Given the description of an element on the screen output the (x, y) to click on. 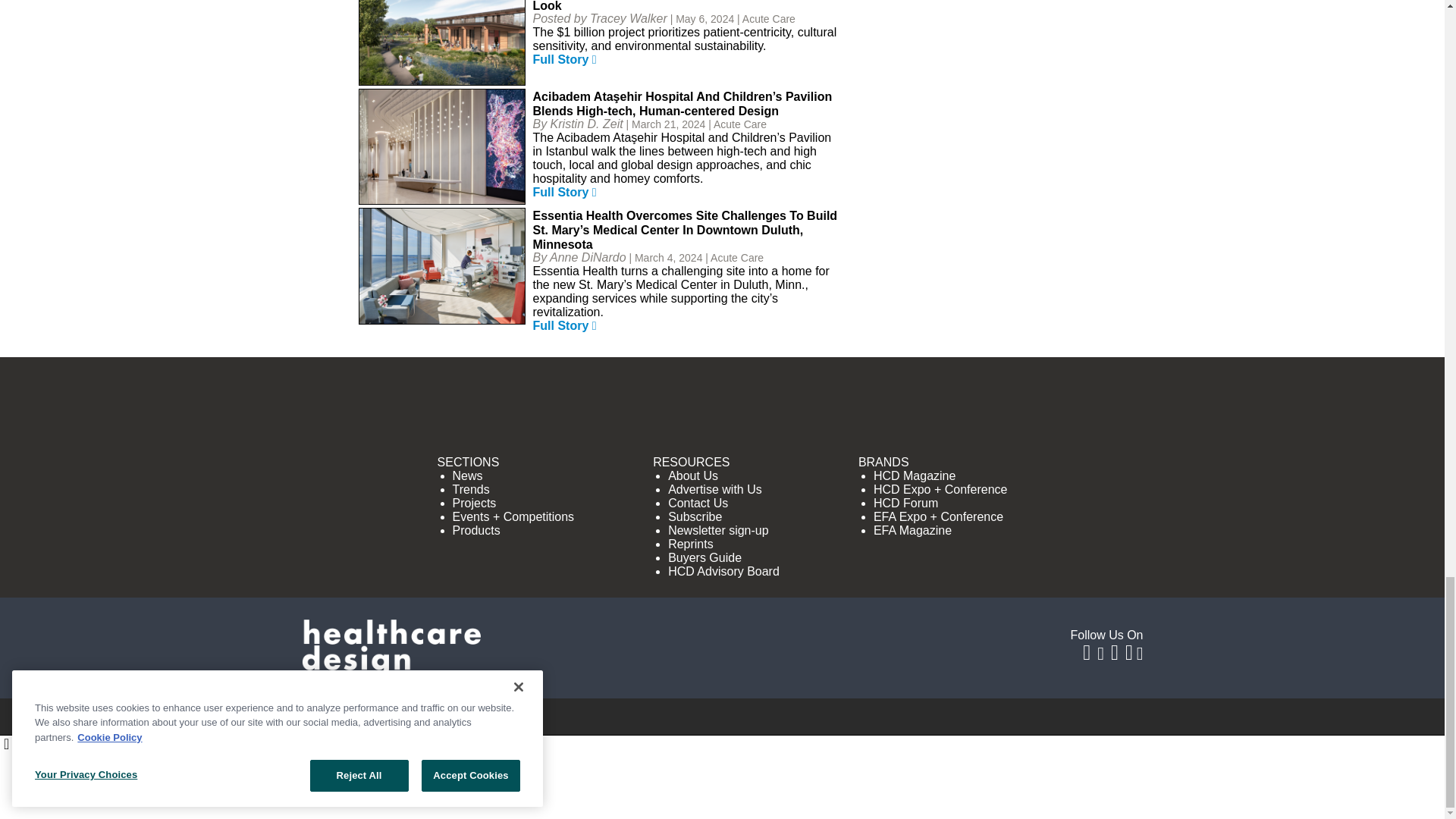
careers (504, 796)
3rd party ad content (721, 413)
about (446, 796)
your-privacy-choices (833, 796)
authorized-service-providers (646, 796)
terms-of-use (986, 796)
privacy-policy (1088, 796)
